Given the description of an element on the screen output the (x, y) to click on. 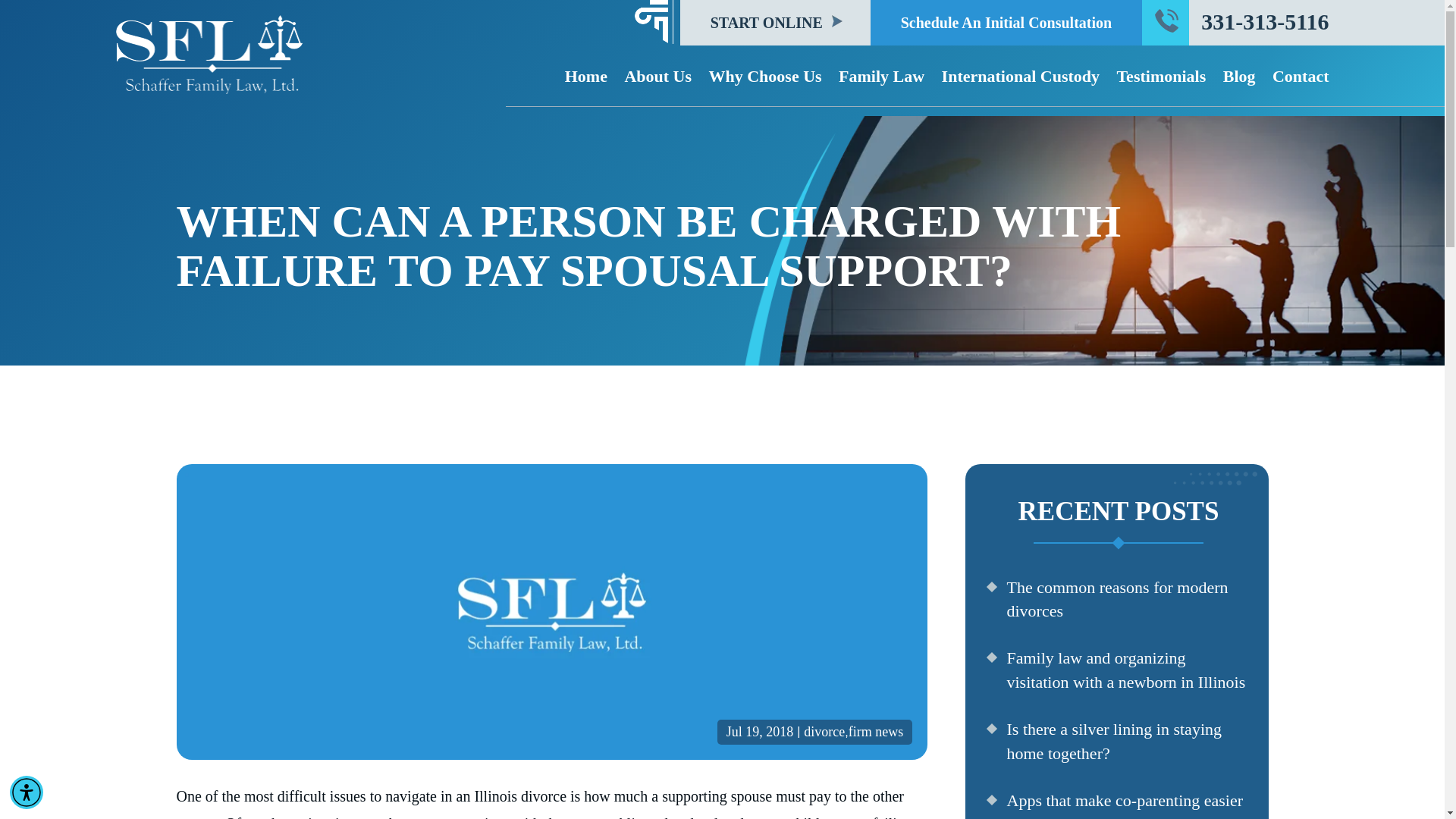
331-313-5116 (1264, 21)
Schedule An Initial Consultation (1005, 22)
Accessibility Menu (26, 792)
START ONLINE (774, 22)
Contact (1300, 75)
Family Law (881, 75)
International Custody (1020, 75)
Blog (1239, 75)
Testimonials (1160, 75)
Why Choose Us (764, 75)
Home (585, 75)
About Us (657, 75)
